Given the description of an element on the screen output the (x, y) to click on. 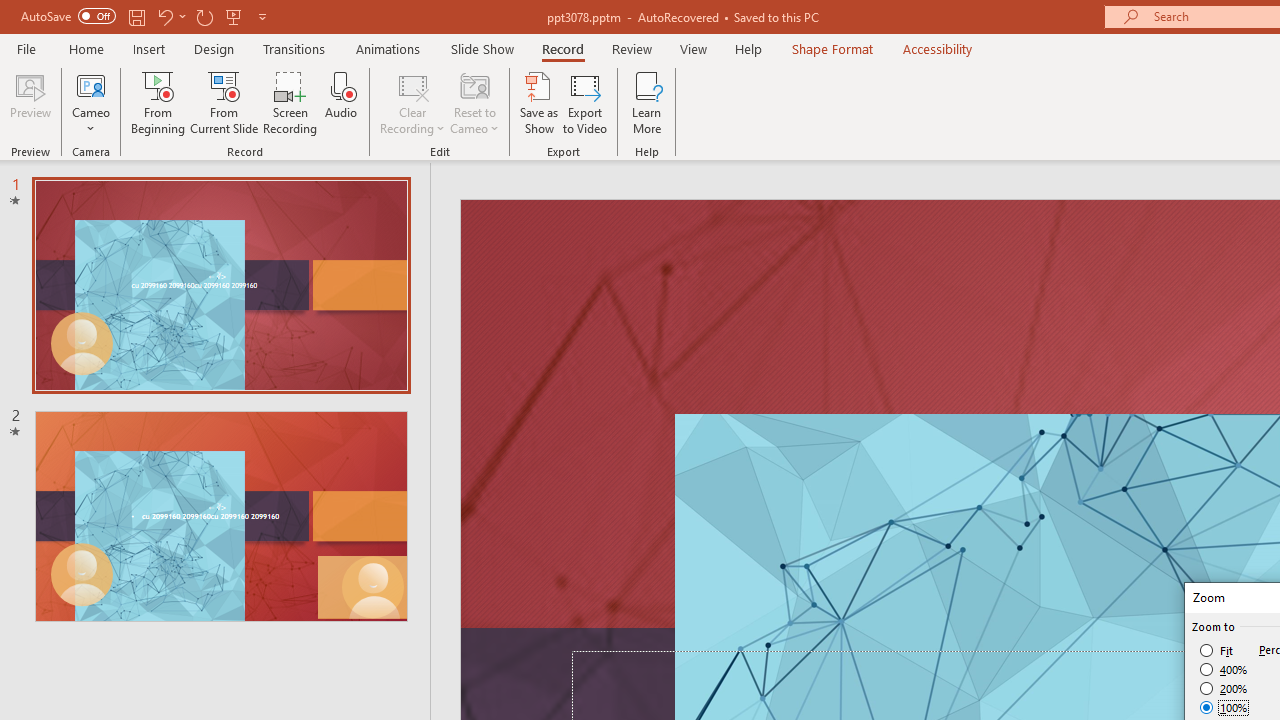
200% (1224, 688)
400% (1224, 669)
